Given the description of an element on the screen output the (x, y) to click on. 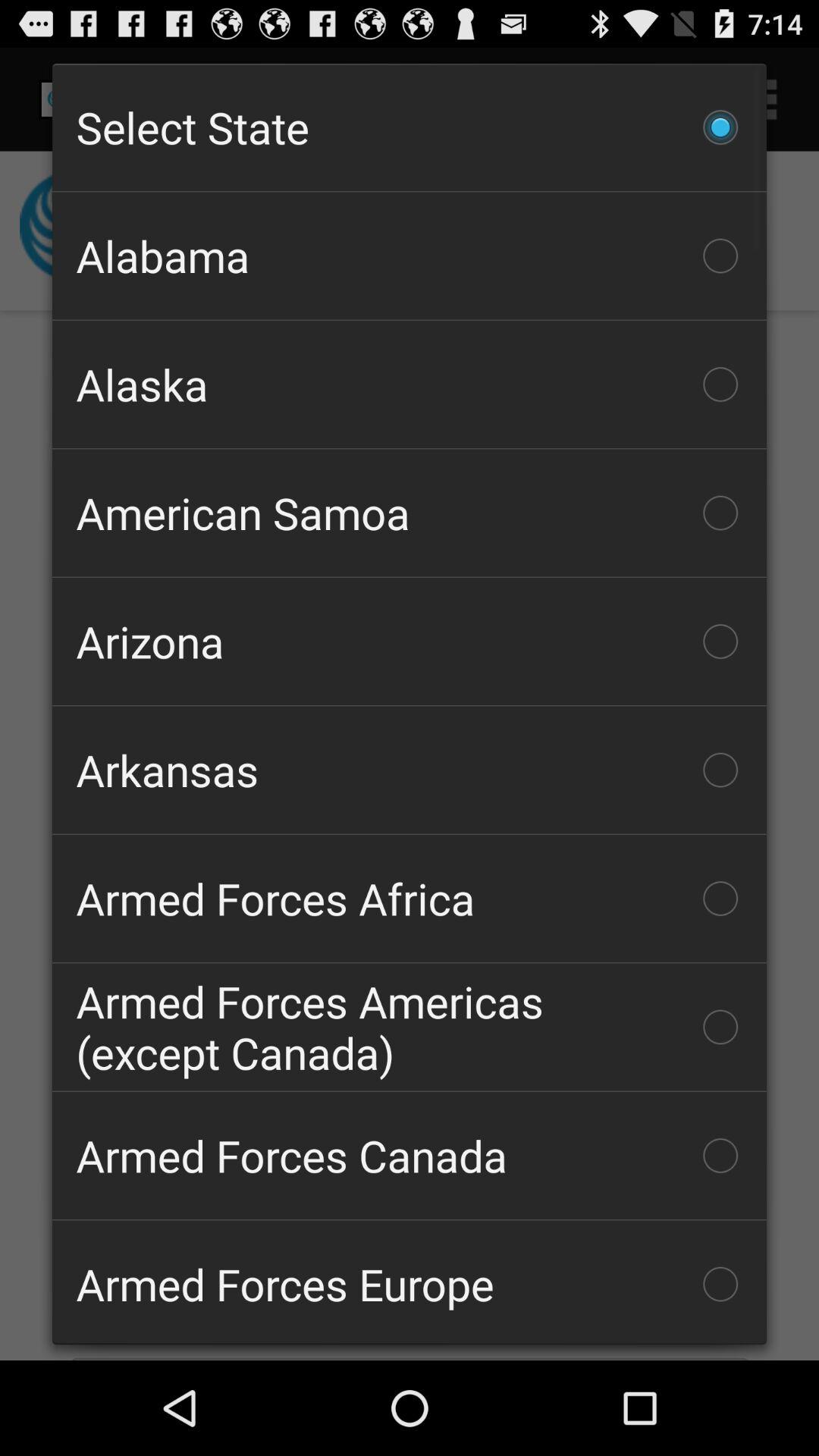
tap the icon above alabama item (409, 127)
